Given the description of an element on the screen output the (x, y) to click on. 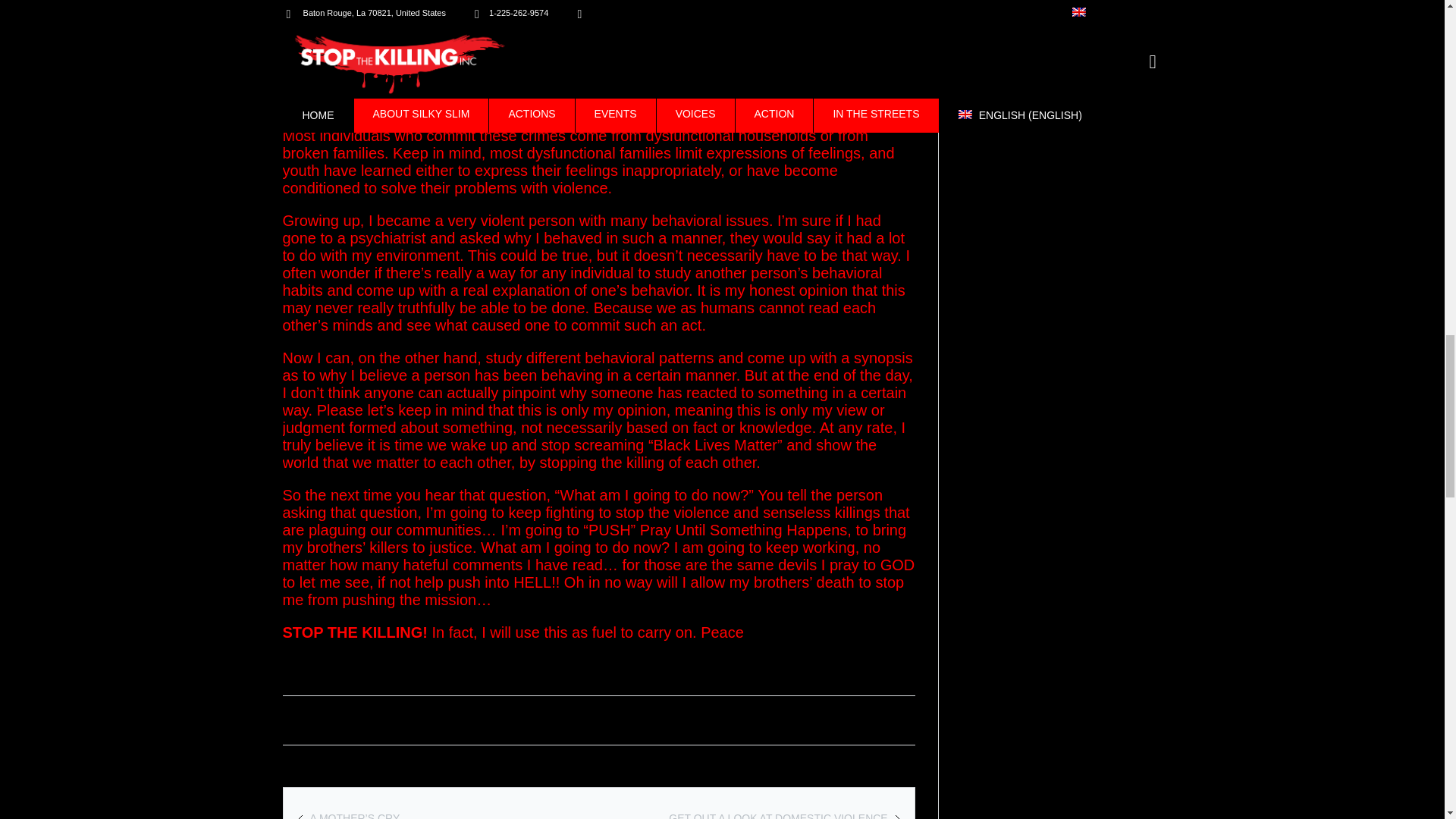
BOTTOMBOYS (336, 718)
IN THE STREETS (434, 718)
GET OUT A LOOK AT DOMESTIC VIOLENCE (777, 815)
20 (843, 718)
0 (890, 718)
